Given the description of an element on the screen output the (x, y) to click on. 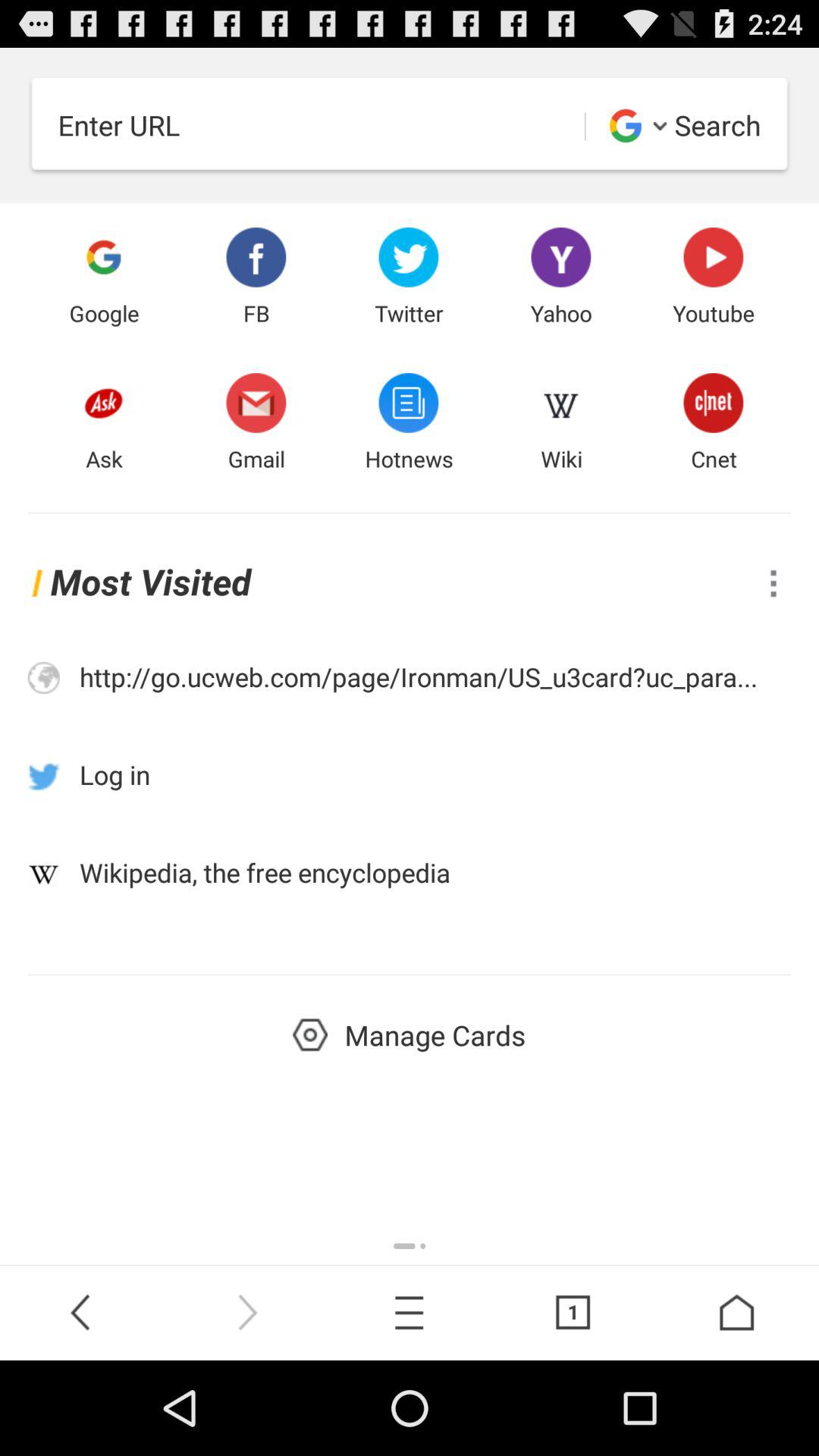
show options about most visited sites (773, 583)
